Given the description of an element on the screen output the (x, y) to click on. 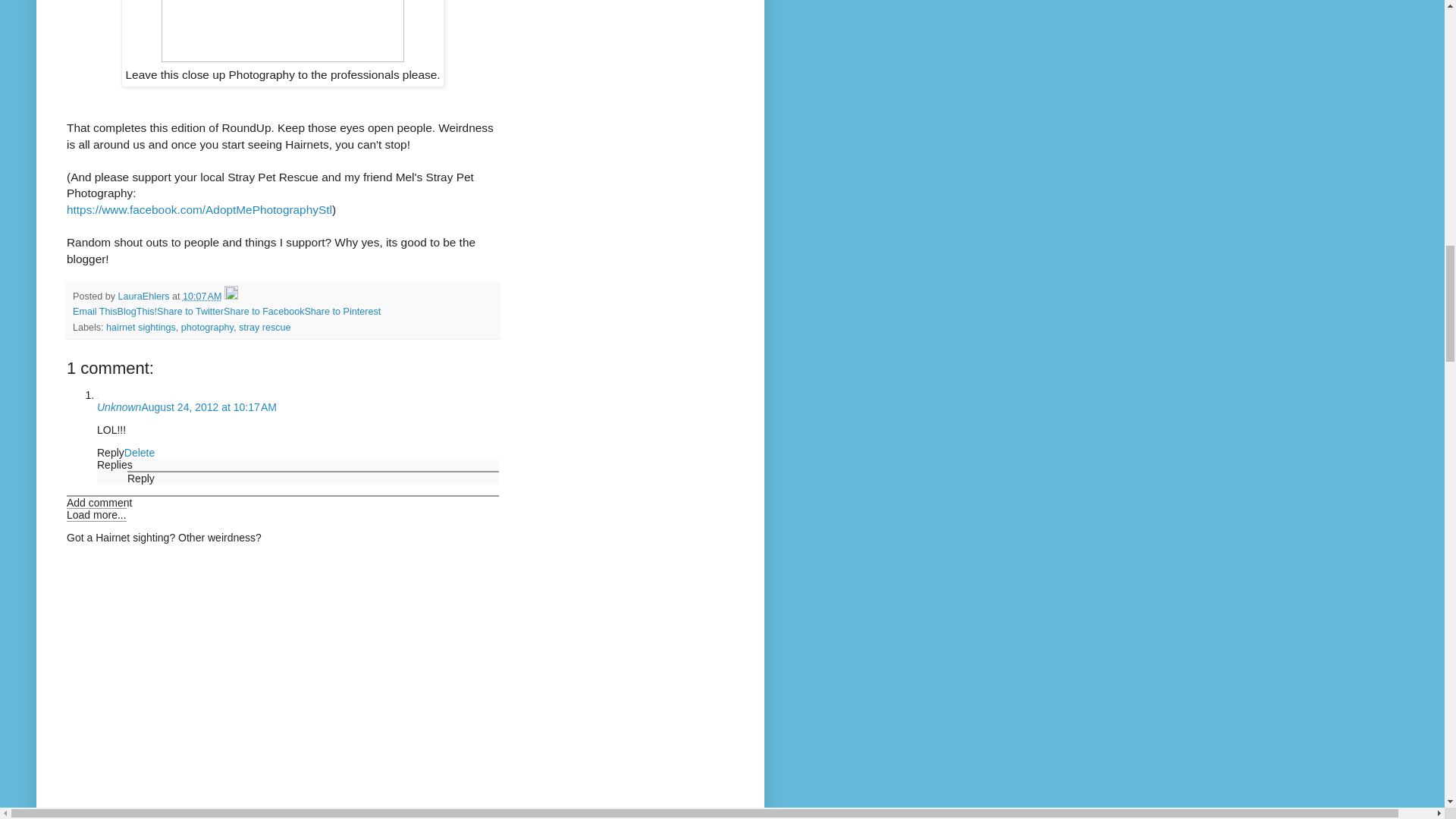
Share to Pinterest (342, 311)
Share to Pinterest (342, 311)
author profile (144, 296)
Delete (138, 452)
Email This (94, 311)
Reply (141, 478)
Add comment (99, 502)
Share to Twitter (190, 311)
LauraEhlers (144, 296)
Edit Post (231, 296)
Load more... (96, 514)
Share to Facebook (264, 311)
permanent link (202, 296)
